Given the description of an element on the screen output the (x, y) to click on. 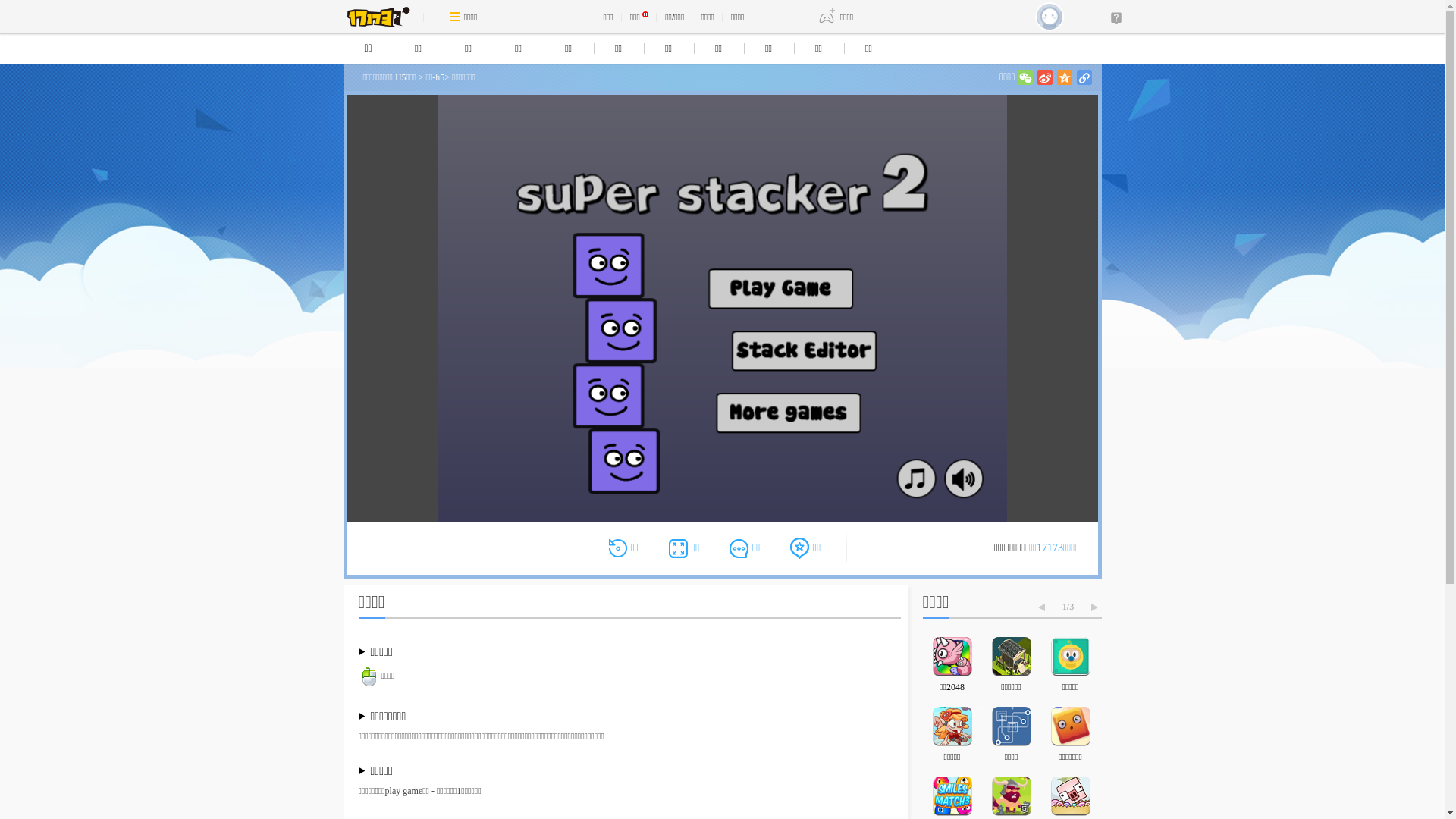
t Element type: text (1044, 76)
z Element type: text (1064, 76)
l Element type: text (1084, 76)
w Element type: text (1024, 76)
